Given the description of an element on the screen output the (x, y) to click on. 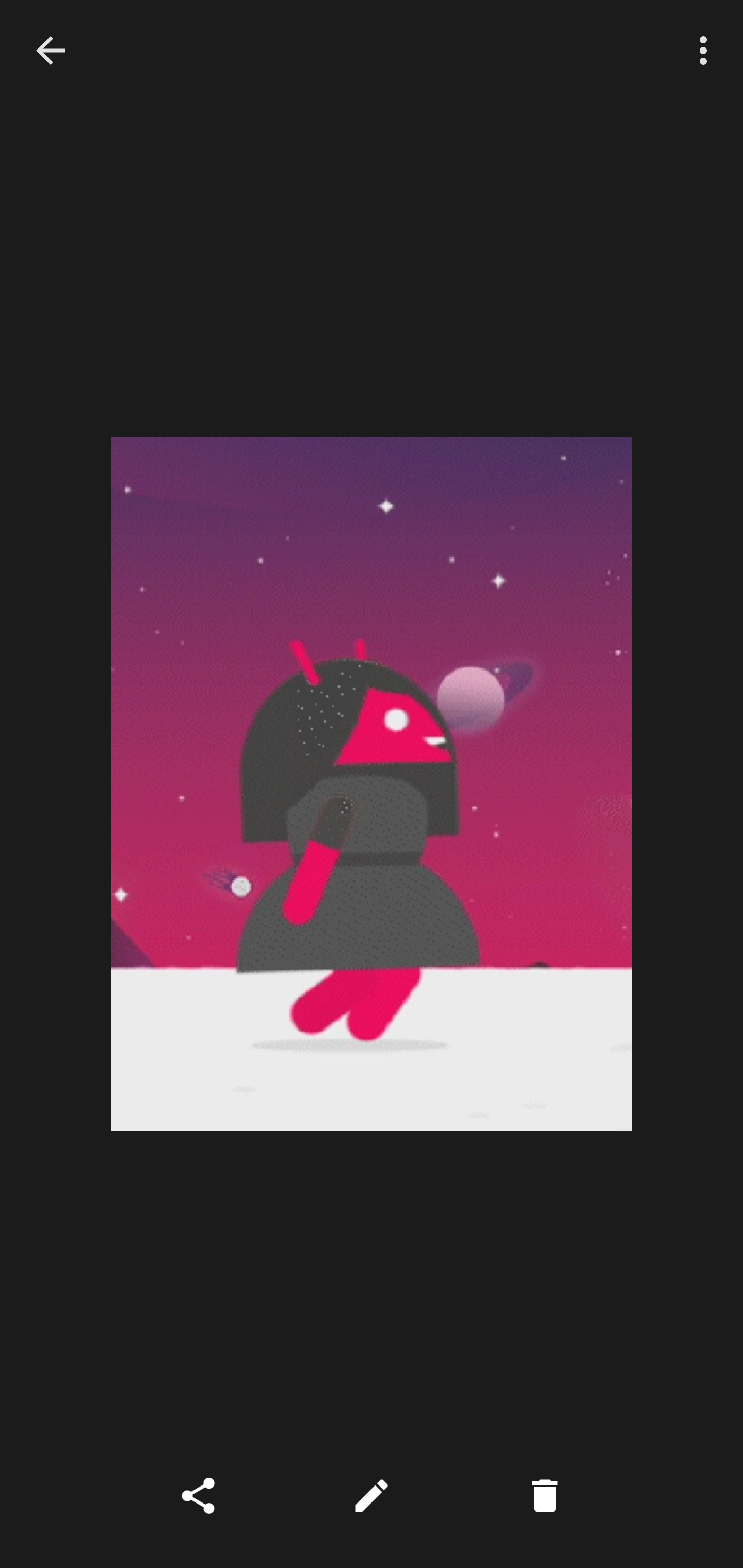
Navigate up (50, 50)
More options (706, 50)
Share (197, 1495)
Edit (371, 1495)
Delete (544, 1495)
